Given the description of an element on the screen output the (x, y) to click on. 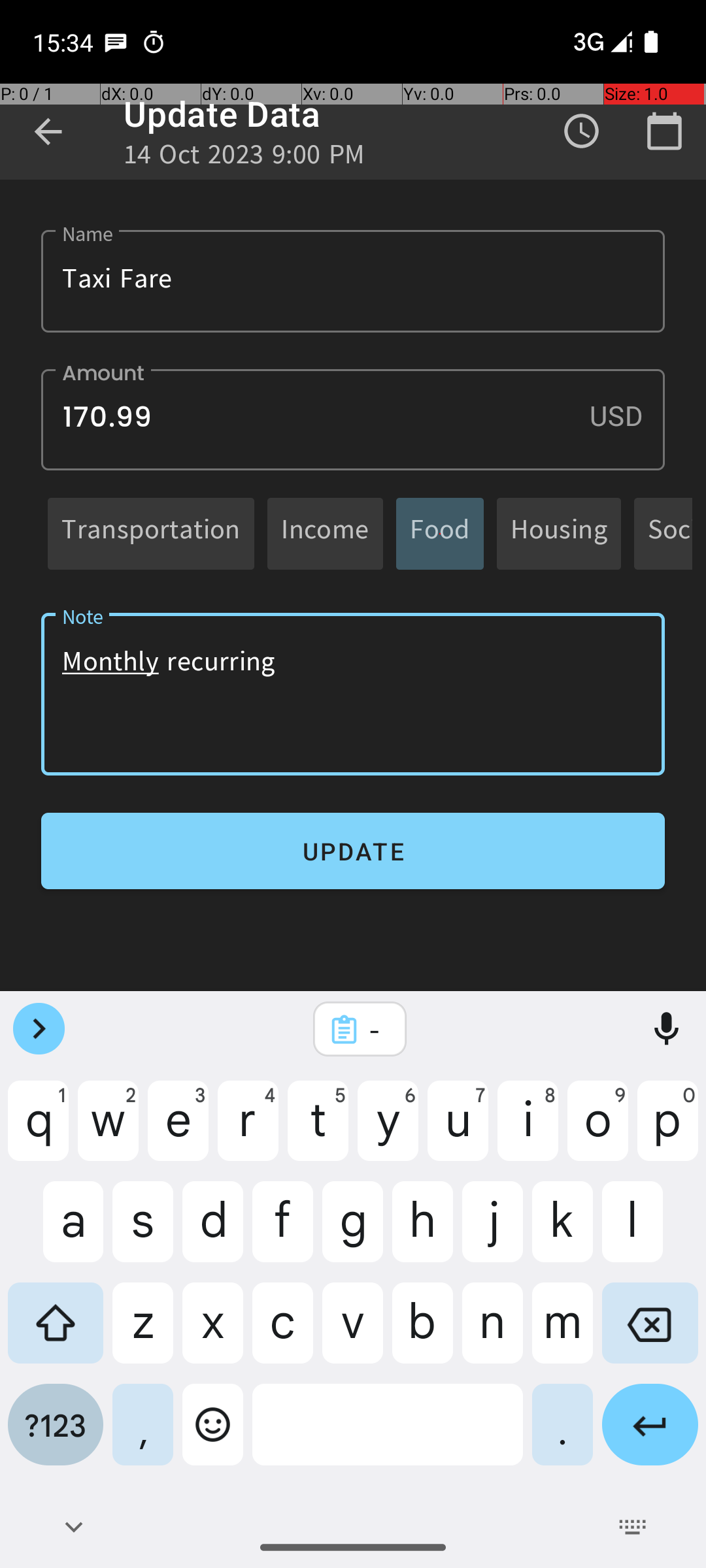
14 Oct 2023 9:00 PM Element type: android.widget.TextView (244, 157)
Taxi Fare Element type: android.widget.EditText (352, 280)
170.99 Element type: android.widget.EditText (352, 419)
